Given the description of an element on the screen output the (x, y) to click on. 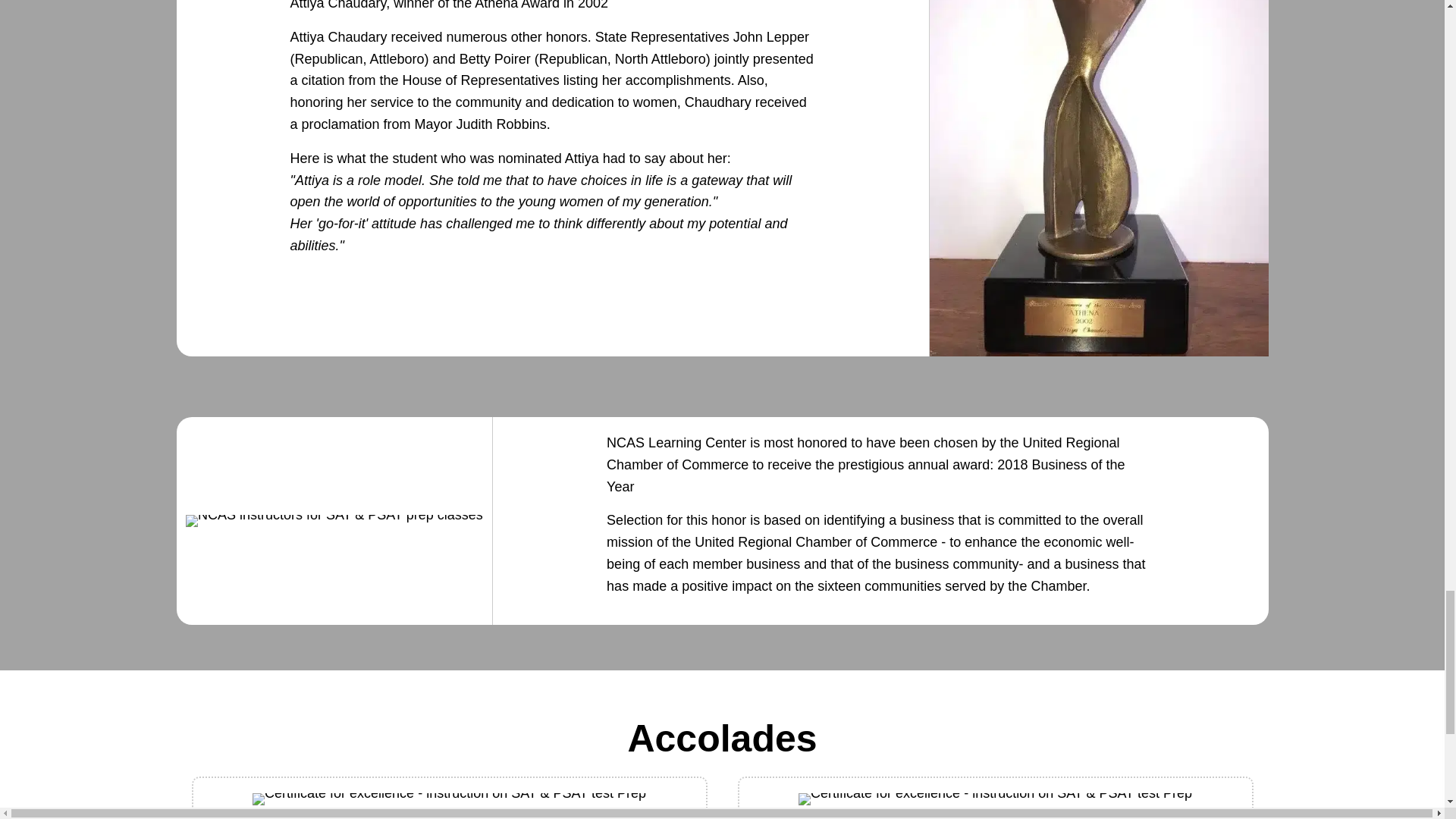
NCAS LEARNING CENTER (334, 521)
NCAS LEARNING CENTER (994, 799)
NCAS LEARNING CENTER (448, 799)
